Given the description of an element on the screen output the (x, y) to click on. 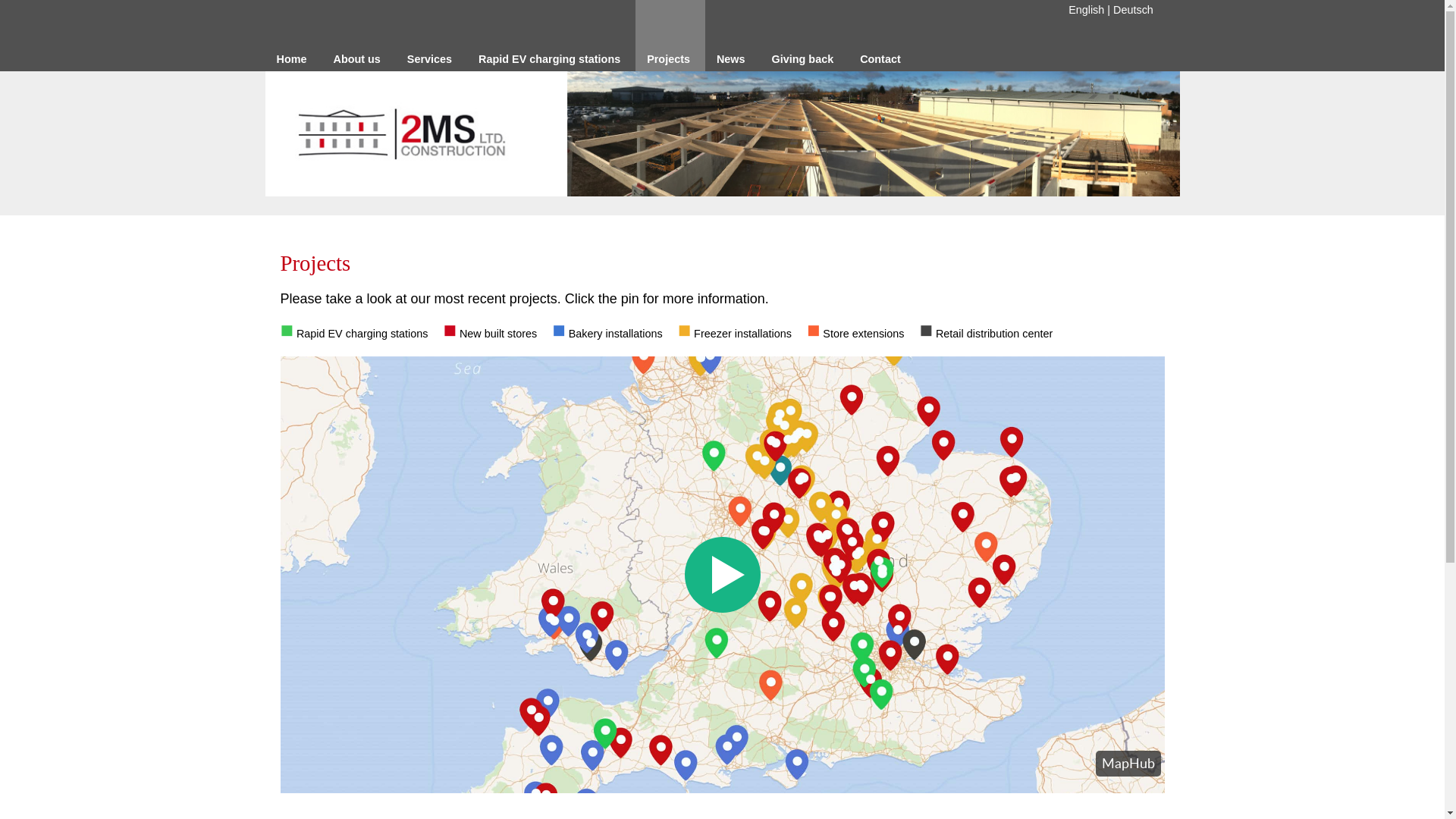
Services Element type: text (431, 35)
Giving back Element type: text (804, 35)
Contact Element type: text (882, 35)
English Element type: text (1086, 9)
Home Element type: text (293, 35)
Rapid EV charging stations Element type: text (551, 35)
About us Element type: text (358, 35)
Projects Element type: text (670, 35)
News Element type: text (732, 35)
Deutsch Element type: text (1133, 9)
